Given the description of an element on the screen output the (x, y) to click on. 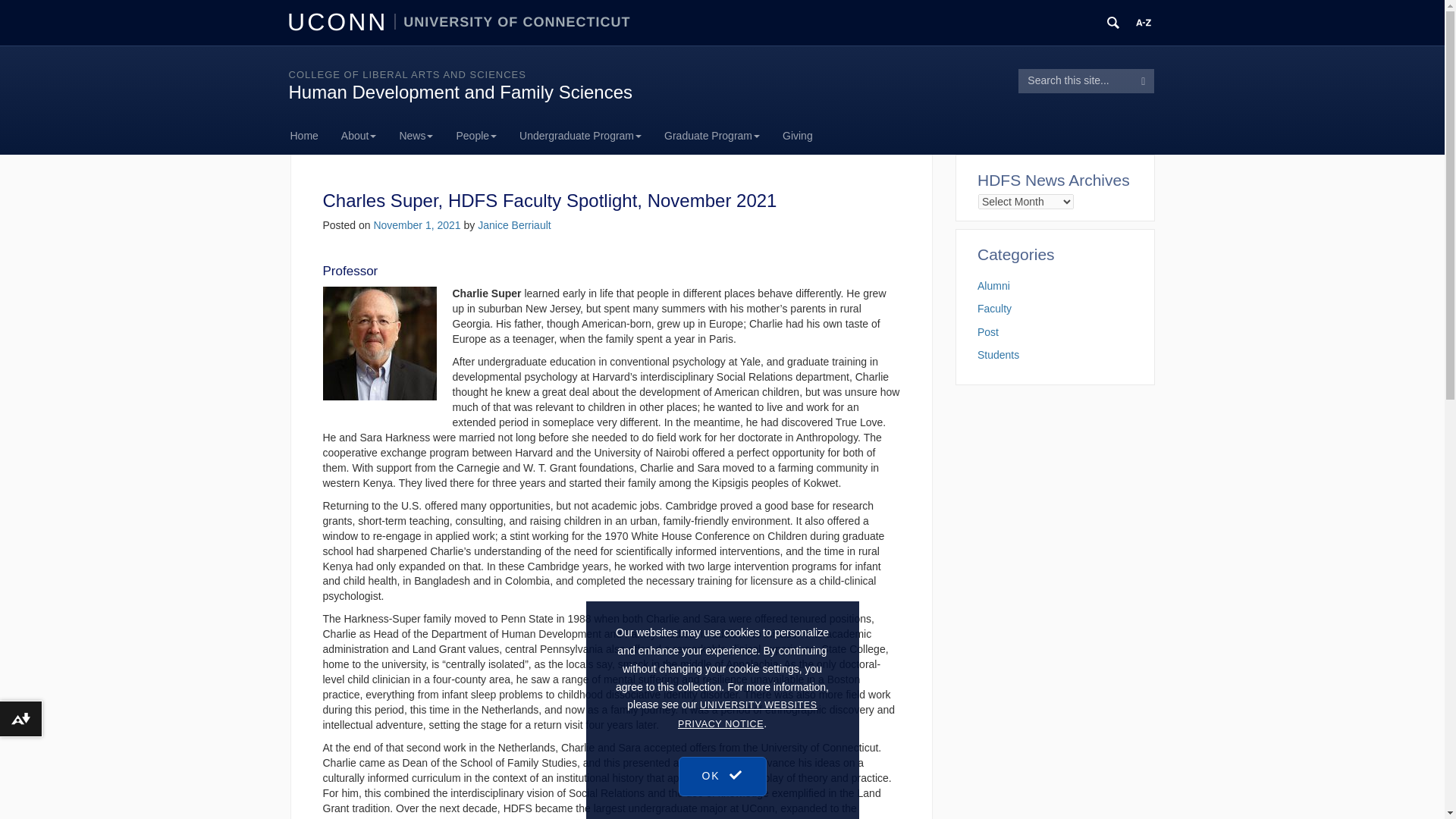
Human Development and Family Sciences (459, 91)
News (415, 135)
About (359, 135)
People (476, 135)
Home (309, 135)
UCONN (340, 21)
UNIVERSITY OF CONNECTICUT (512, 21)
Undergraduate Program (580, 135)
Graduate Program (711, 135)
COLLEGE OF LIBERAL ARTS AND SCIENCES (406, 74)
